Given the description of an element on the screen output the (x, y) to click on. 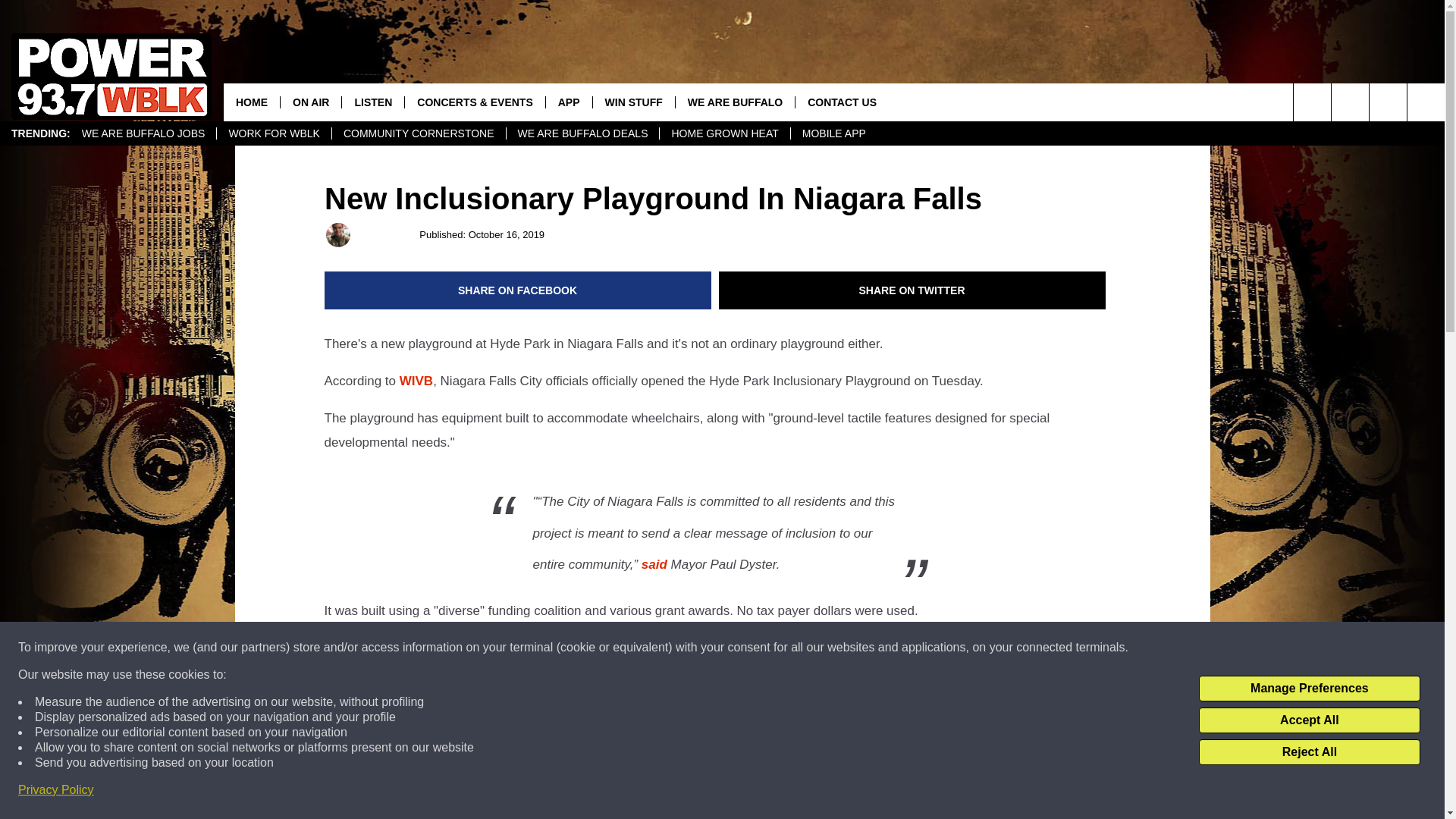
WE ARE BUFFALO (734, 102)
COMMUNITY CORNERSTONE (418, 133)
Share on Facebook (517, 290)
Manage Preferences (1309, 688)
ON AIR (309, 102)
Reject All (1309, 751)
HOME GROWN HEAT (724, 133)
Accept All (1309, 720)
WIN STUFF (633, 102)
LISTEN (372, 102)
HOME (251, 102)
Privacy Policy (55, 789)
WE ARE BUFFALO DEALS (582, 133)
MOBILE APP (833, 133)
WE ARE BUFFALO JOBS (142, 133)
